Given the description of an element on the screen output the (x, y) to click on. 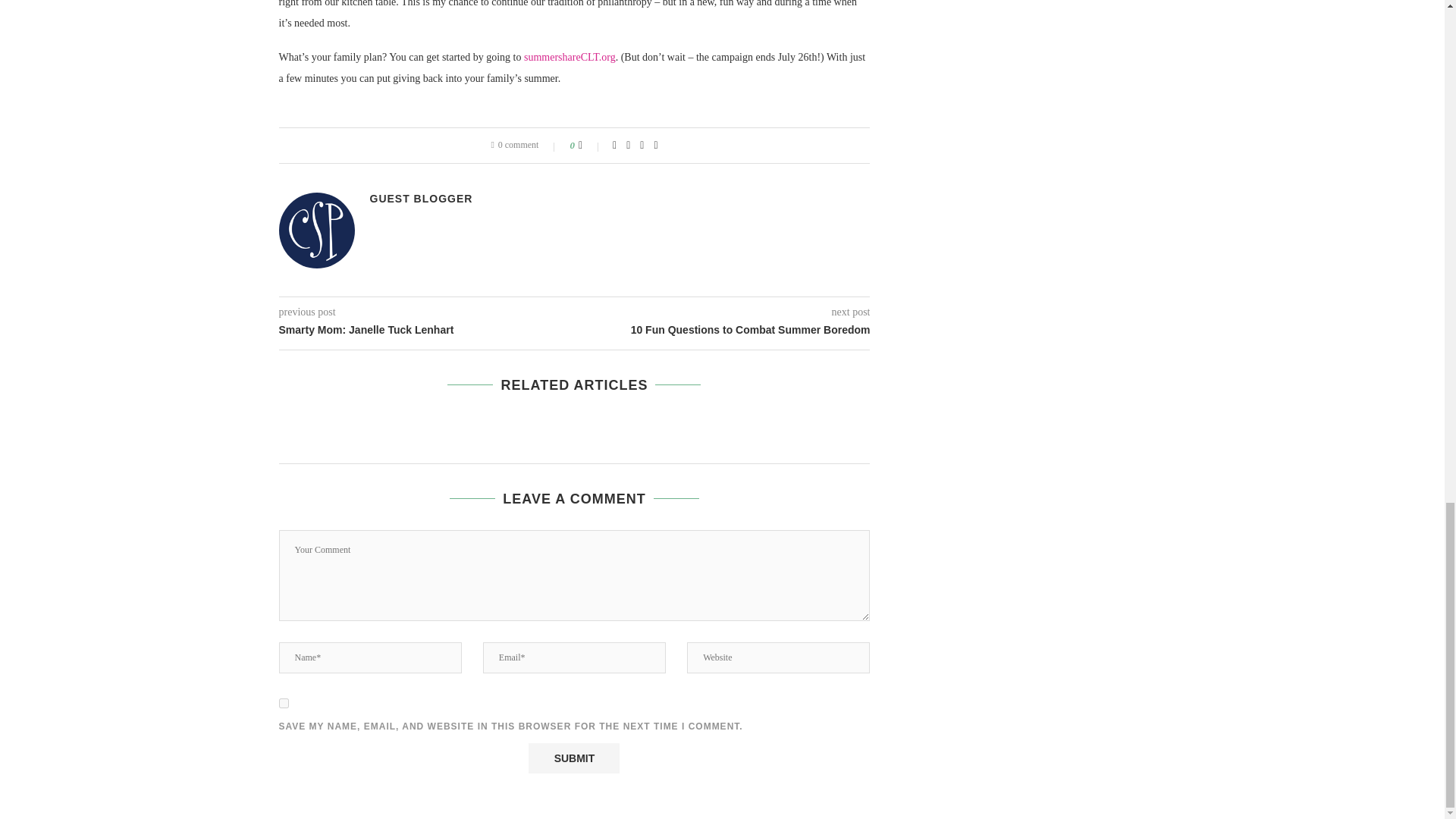
Like (590, 145)
Submit (574, 757)
Posts by Guest Blogger (421, 198)
yes (283, 703)
